Given the description of an element on the screen output the (x, y) to click on. 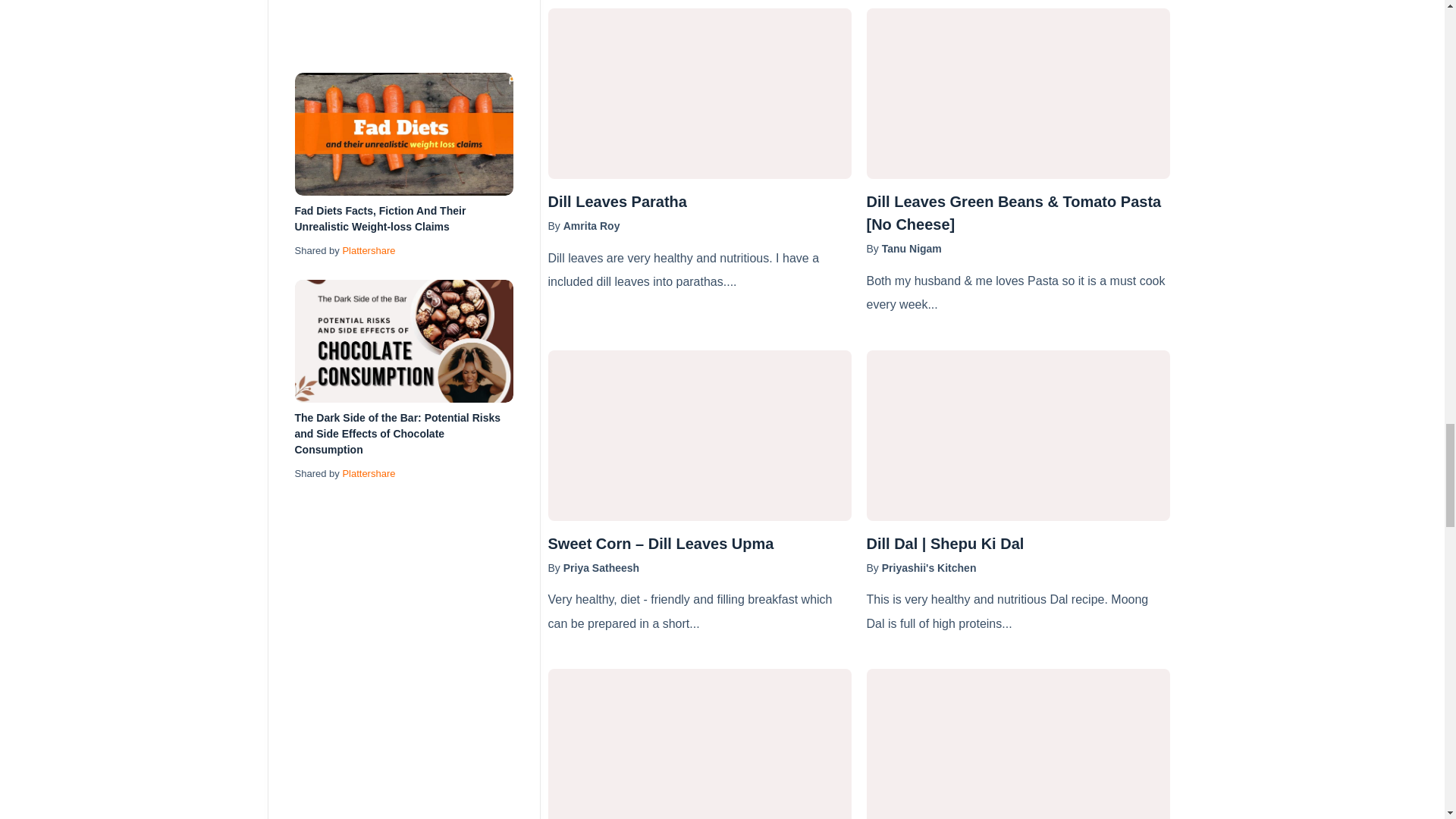
Dill Leaves Paratha (698, 201)
Dill Leaves Paratha (698, 93)
